Given the description of an element on the screen output the (x, y) to click on. 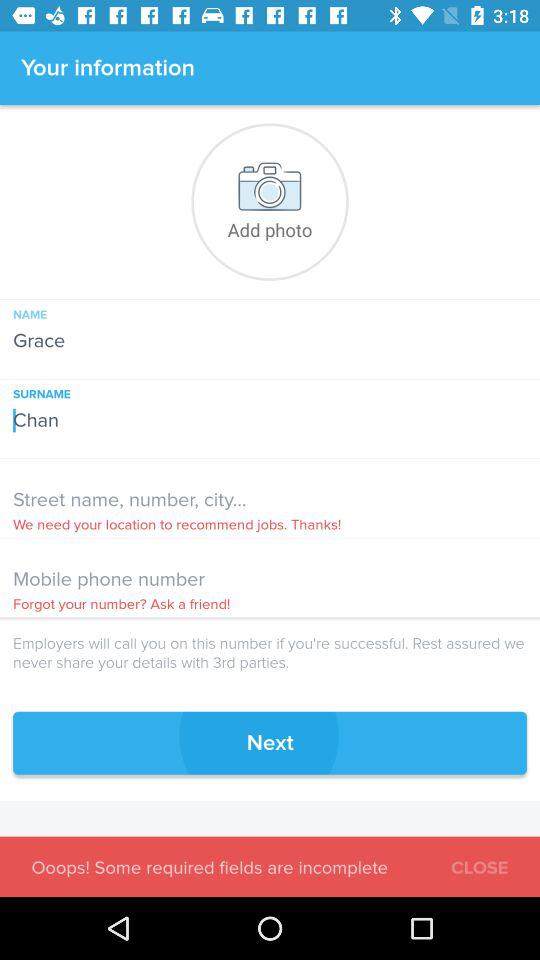
swipe to grace (269, 334)
